Given the description of an element on the screen output the (x, y) to click on. 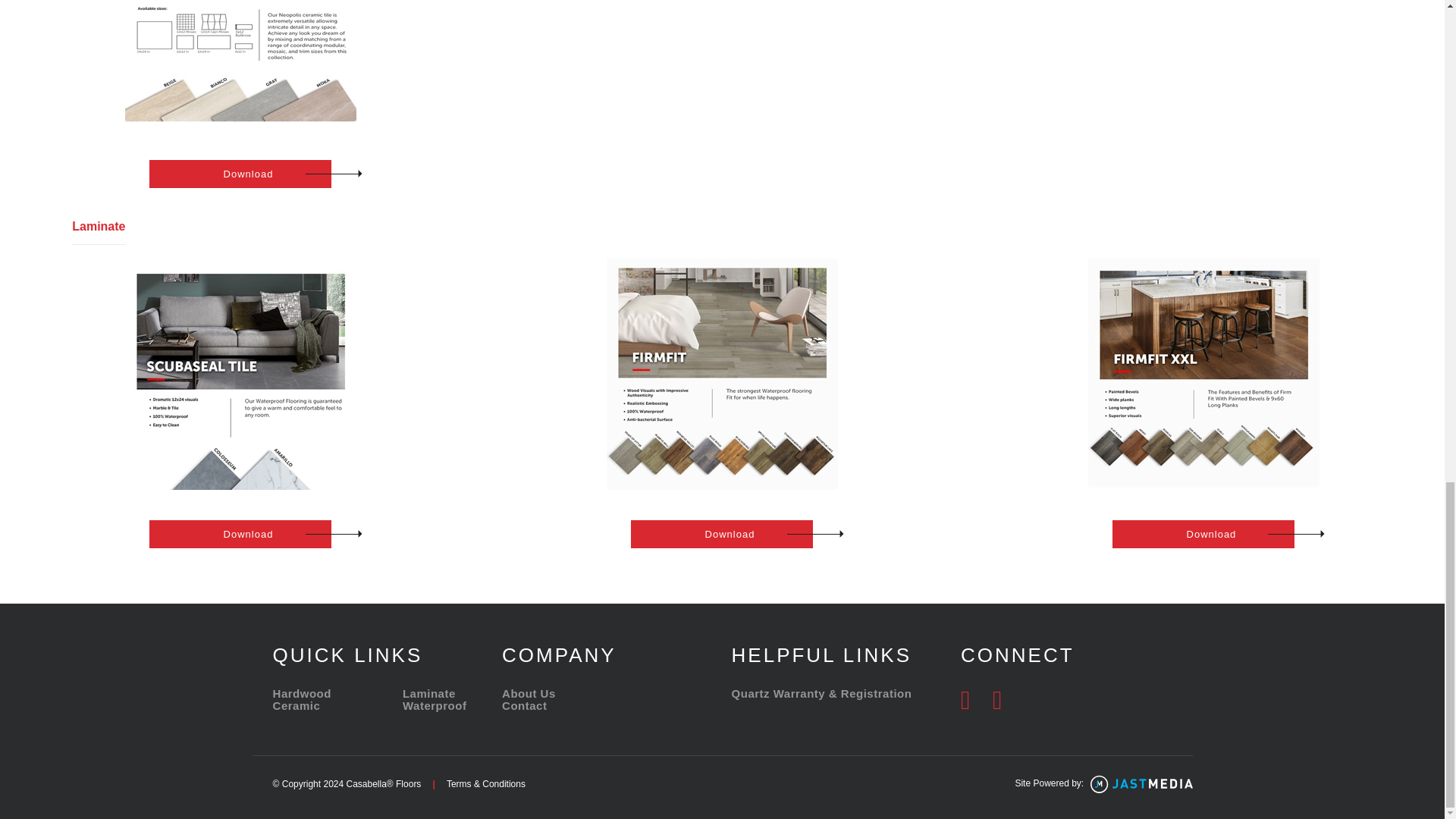
Download (721, 533)
Laminate (429, 693)
Waterproof (434, 705)
Download (240, 533)
Download (1203, 533)
Download (240, 173)
About Us (529, 693)
Contact (524, 705)
Hardwood (302, 693)
Ceramic (296, 705)
